Given the description of an element on the screen output the (x, y) to click on. 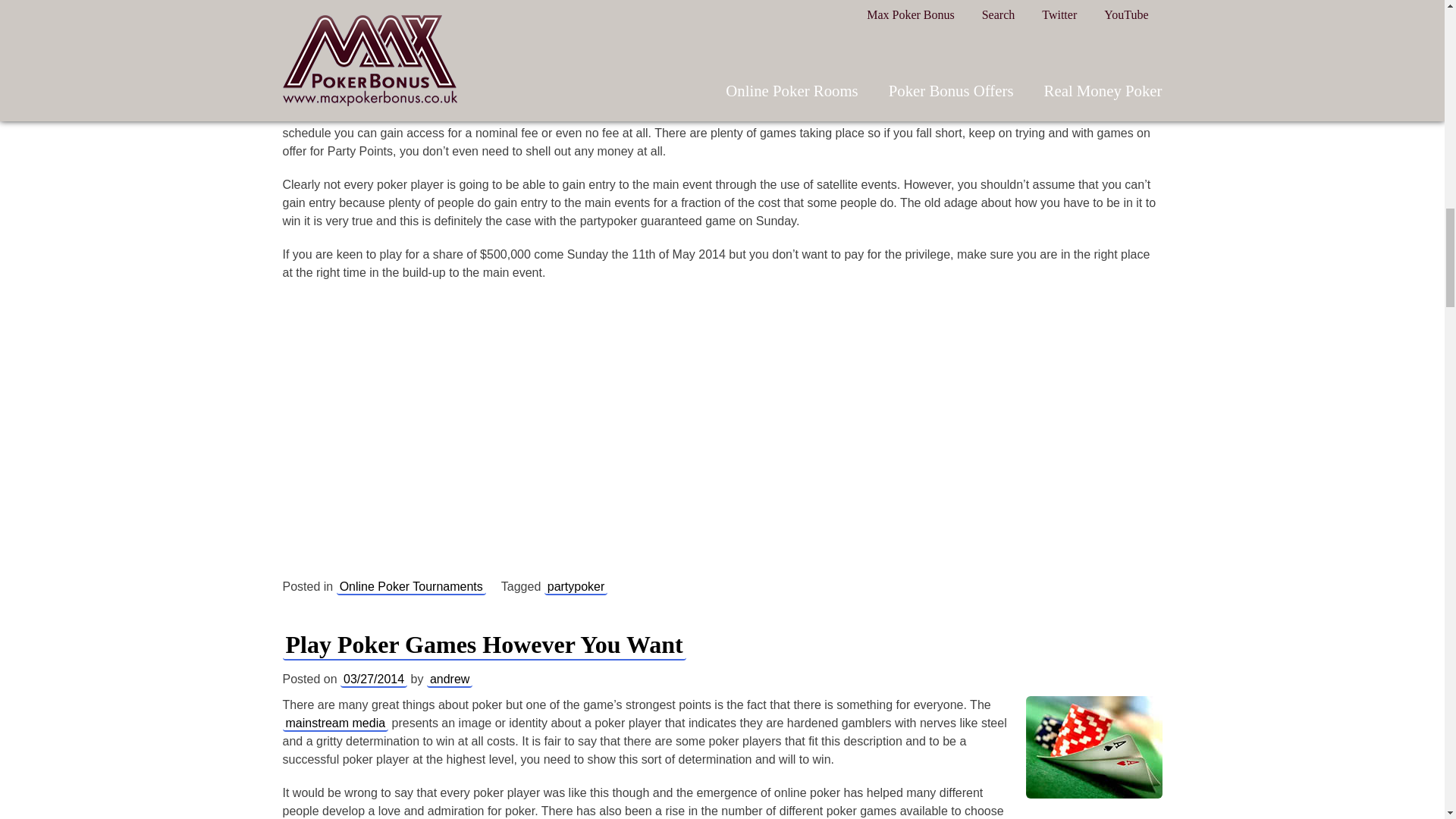
Online Poker Tournaments (411, 586)
andrew (448, 678)
Play Poker Games However You Want (483, 644)
partypoker (576, 586)
mainstream media (335, 723)
Say Hello to Party Poker (721, 433)
